Given the description of an element on the screen output the (x, y) to click on. 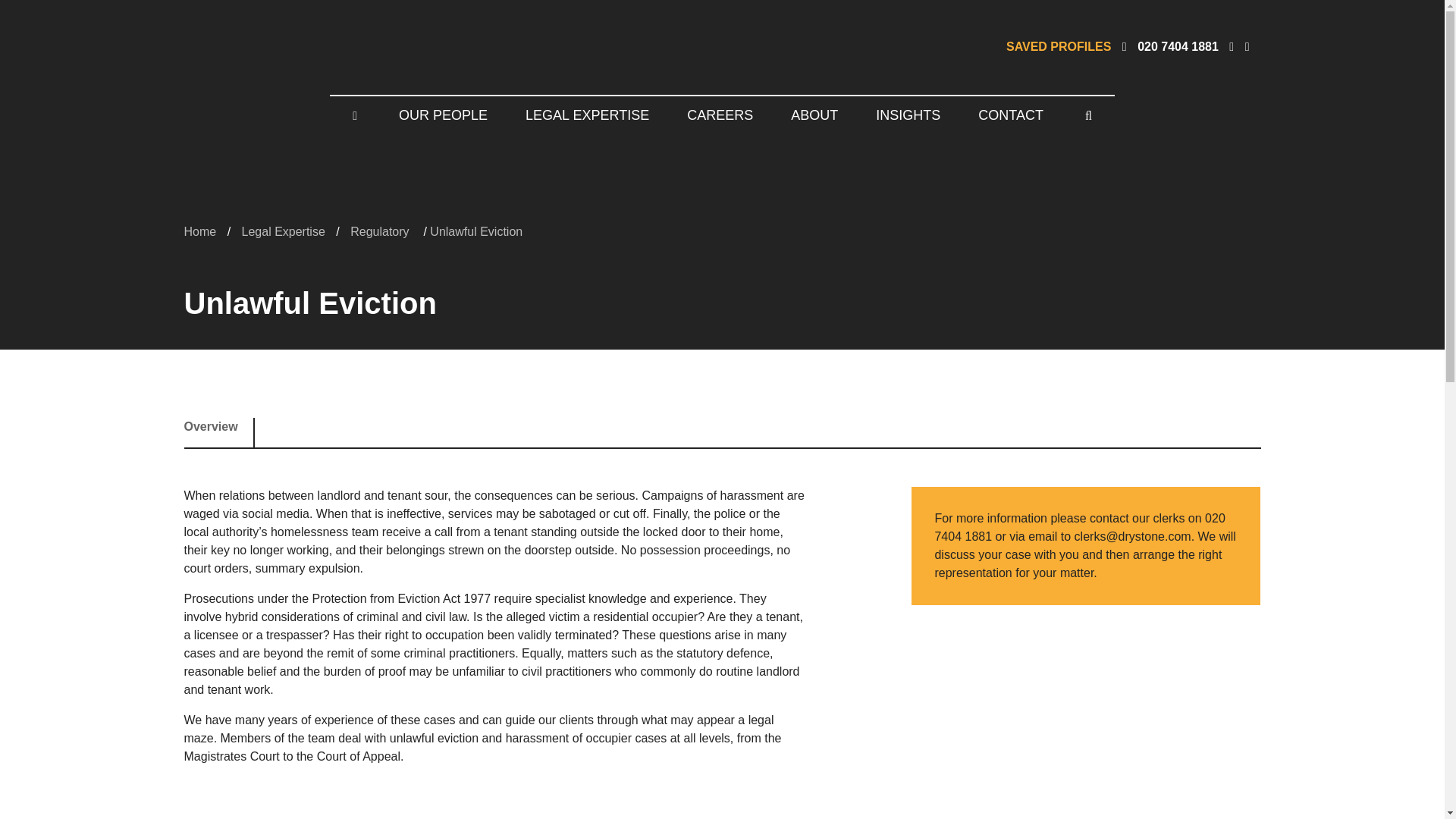
020 7404 1881 (1177, 46)
OUR PEOPLE (443, 115)
CAREERS (719, 115)
INSIGHTS (908, 115)
Home (199, 231)
ABOUT (814, 115)
LEGAL EXPERTISE (587, 115)
Unlawful Eviction Overview (217, 432)
CONTACT (1010, 115)
Legal Expertise (282, 231)
Regulatory  (381, 231)
SAVED PROFILES (1058, 46)
Overview (217, 432)
